Given the description of an element on the screen output the (x, y) to click on. 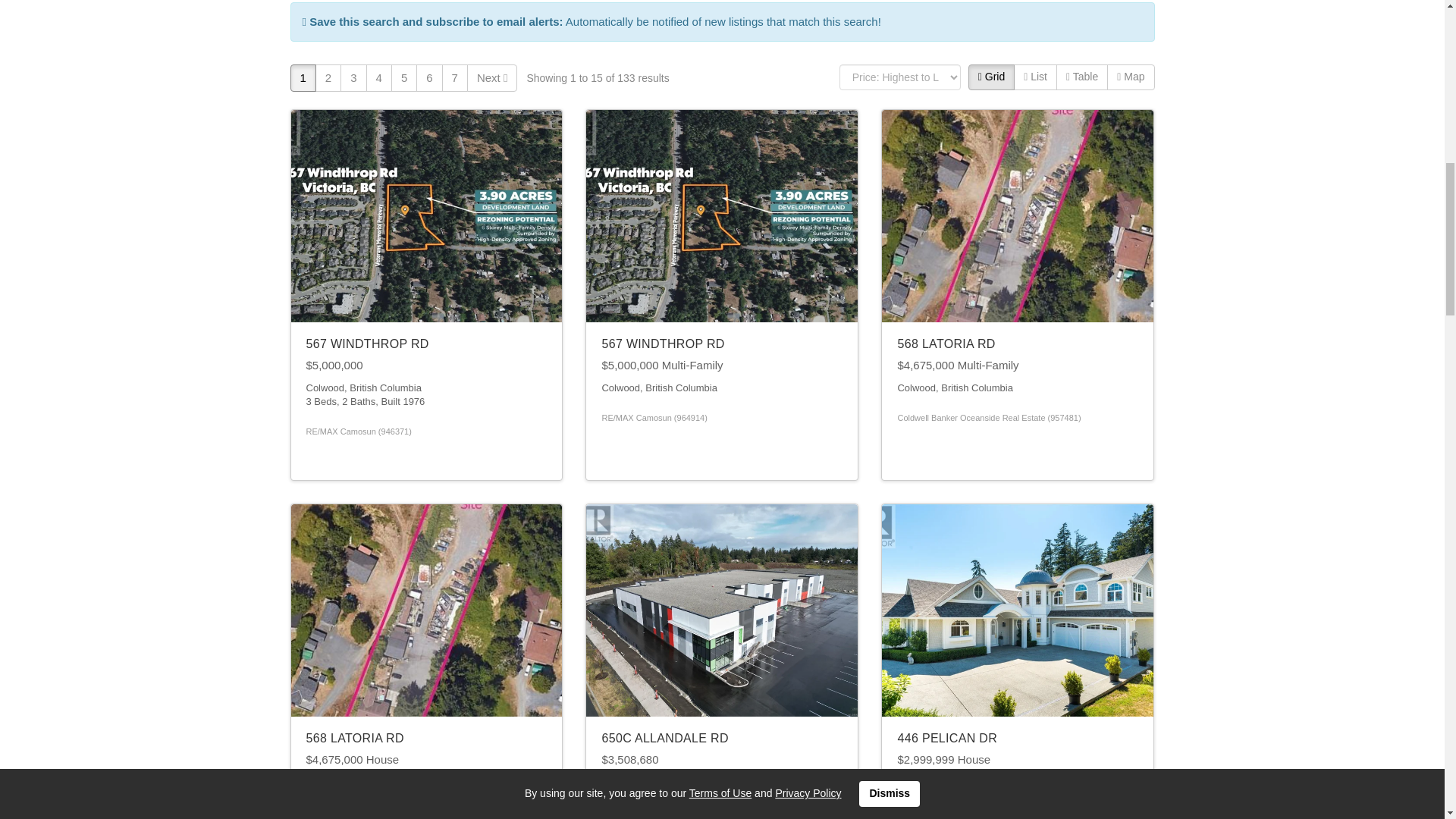
2 (327, 77)
3 (353, 77)
Next (492, 77)
Table (1082, 77)
6 (429, 77)
4 (378, 77)
Grid (991, 77)
Map (1130, 77)
List (1035, 77)
1 (302, 77)
7 (454, 77)
5 (403, 77)
